Given the description of an element on the screen output the (x, y) to click on. 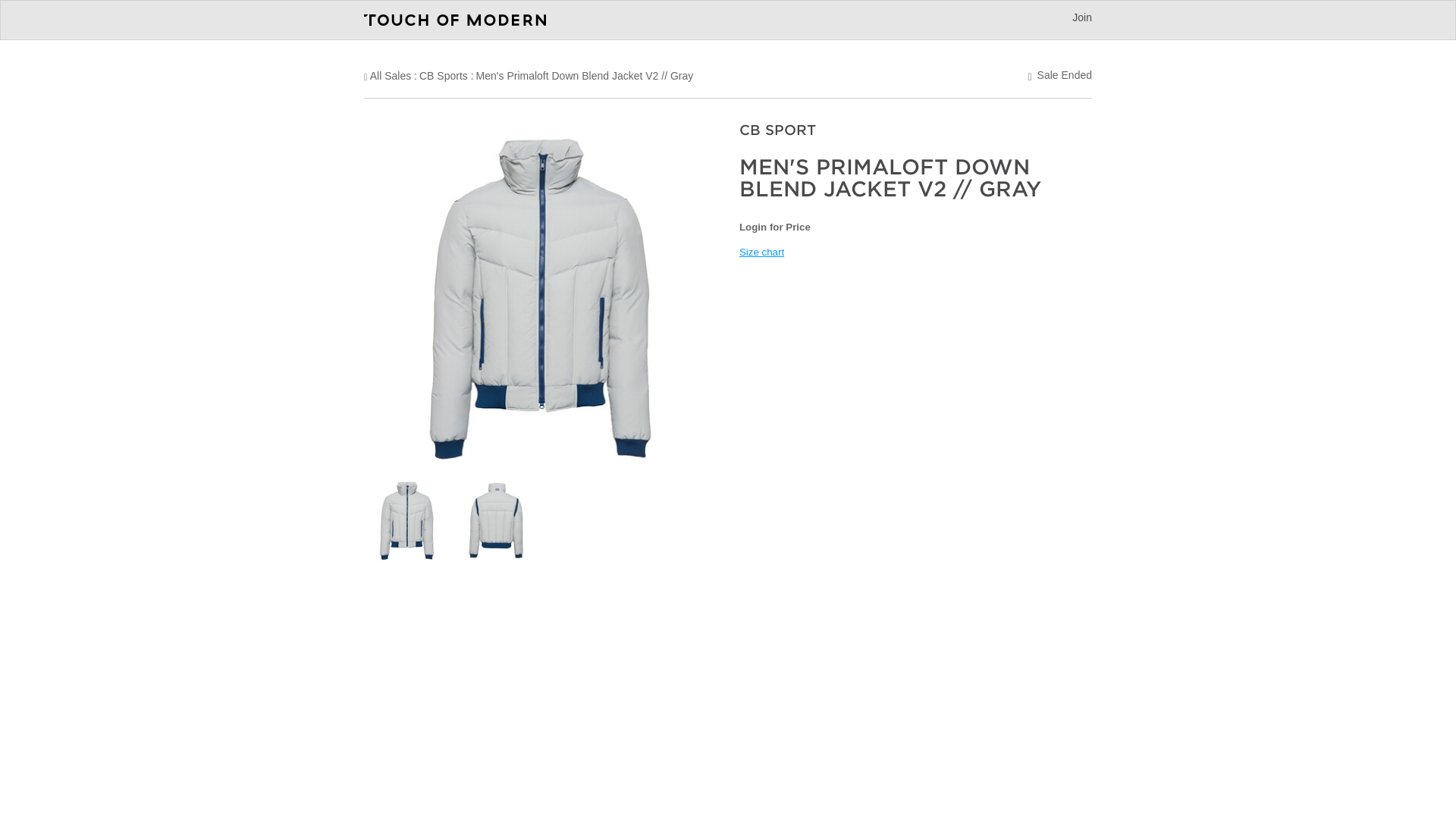
Join (1081, 17)
All Sales (389, 75)
Size chart (761, 251)
CB Sports (443, 75)
All Sales (389, 75)
CB Sports (443, 75)
